Given the description of an element on the screen output the (x, y) to click on. 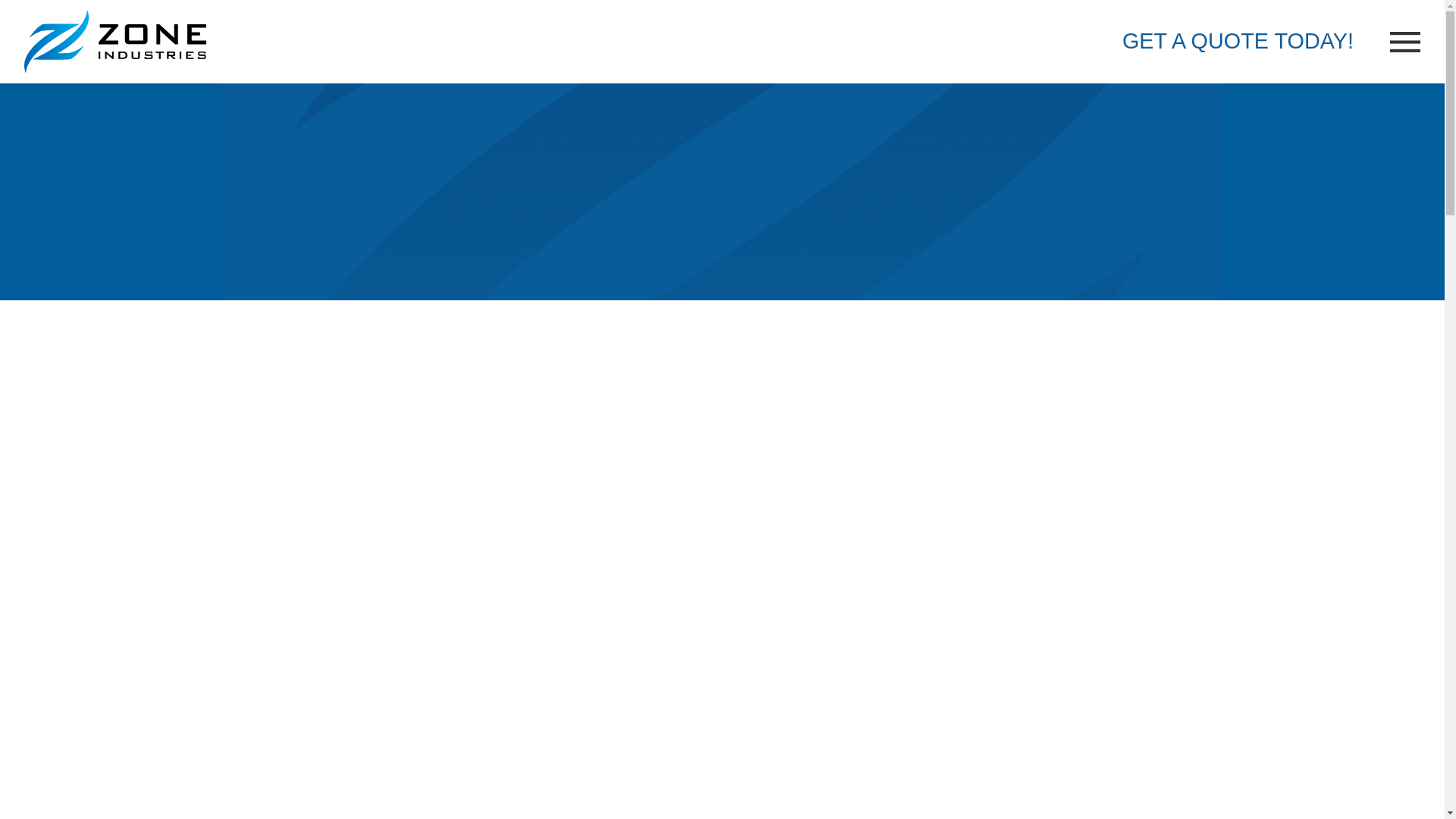
GET A QUOTE TODAY! (1238, 41)
